Given the description of an element on the screen output the (x, y) to click on. 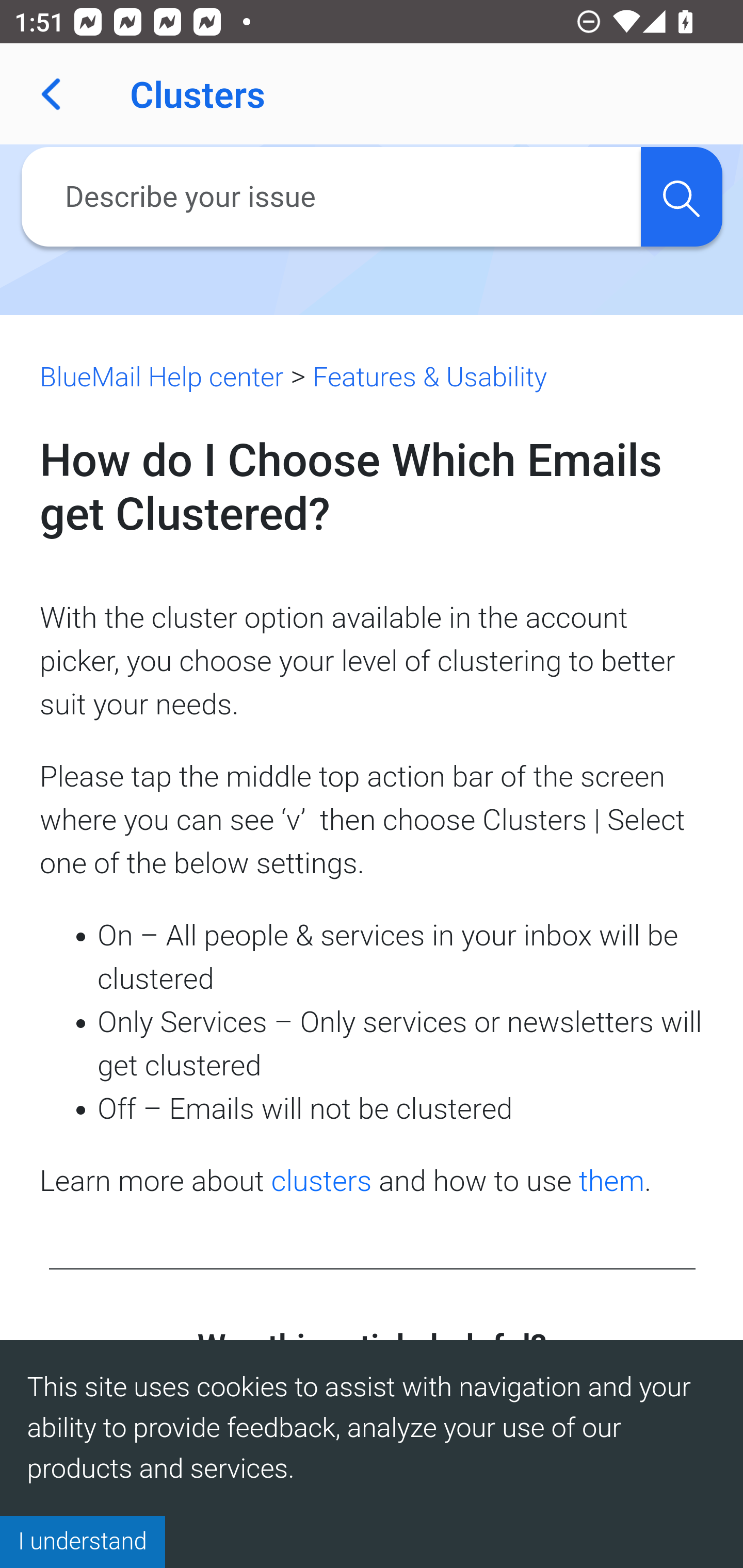
Navigate up (50, 93)
search (680, 196)
BlueMail Help center BlueMail  Help center (162, 376)
Features & Usability (429, 376)
clusters (322, 1179)
them (612, 1179)
Accept cookies (83, 1541)
